Given the description of an element on the screen output the (x, y) to click on. 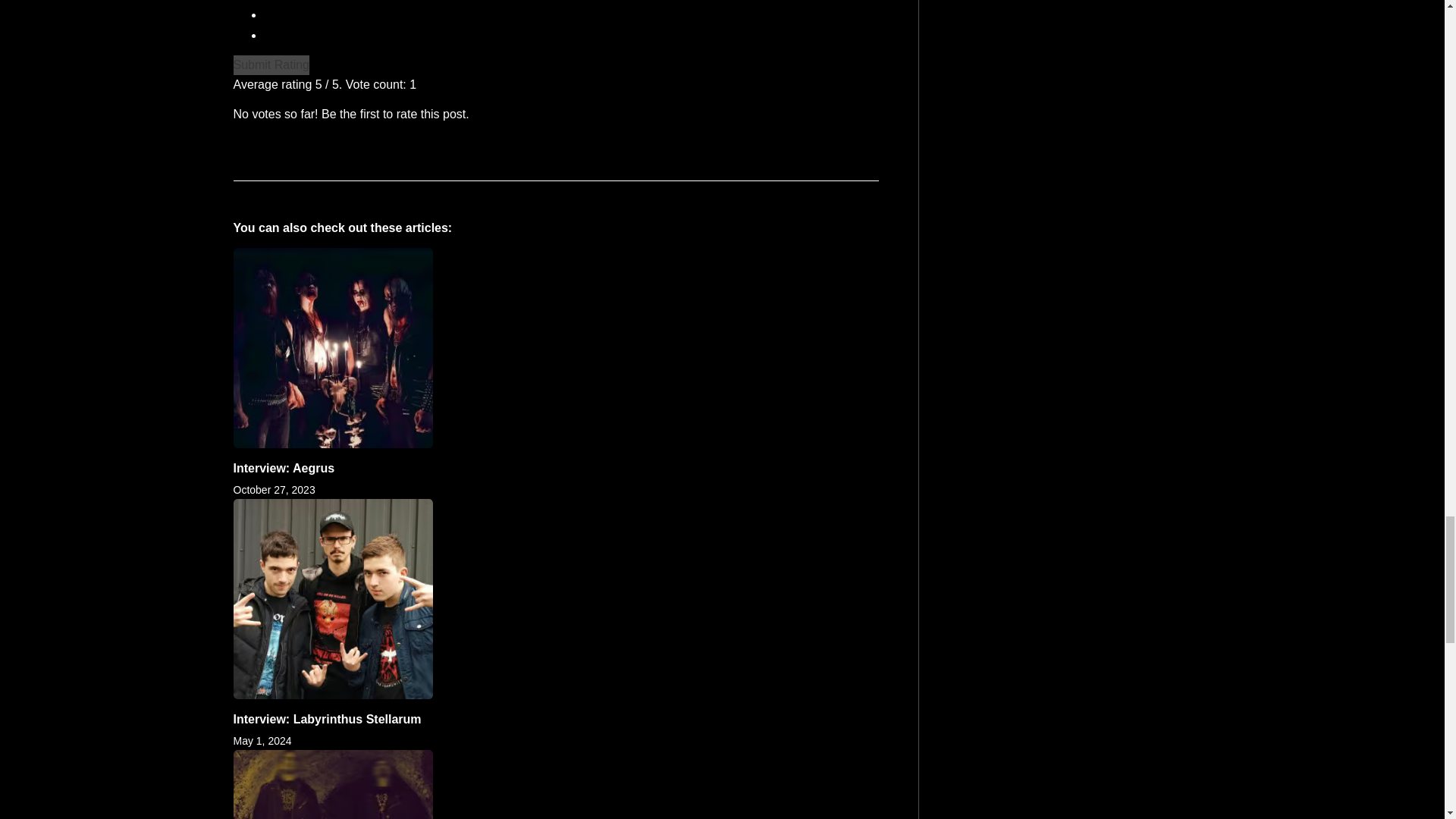
Interview: Labyrinthus Stellarum (327, 718)
Interview: Aegrus (283, 468)
Submit Rating (271, 65)
